Given the description of an element on the screen output the (x, y) to click on. 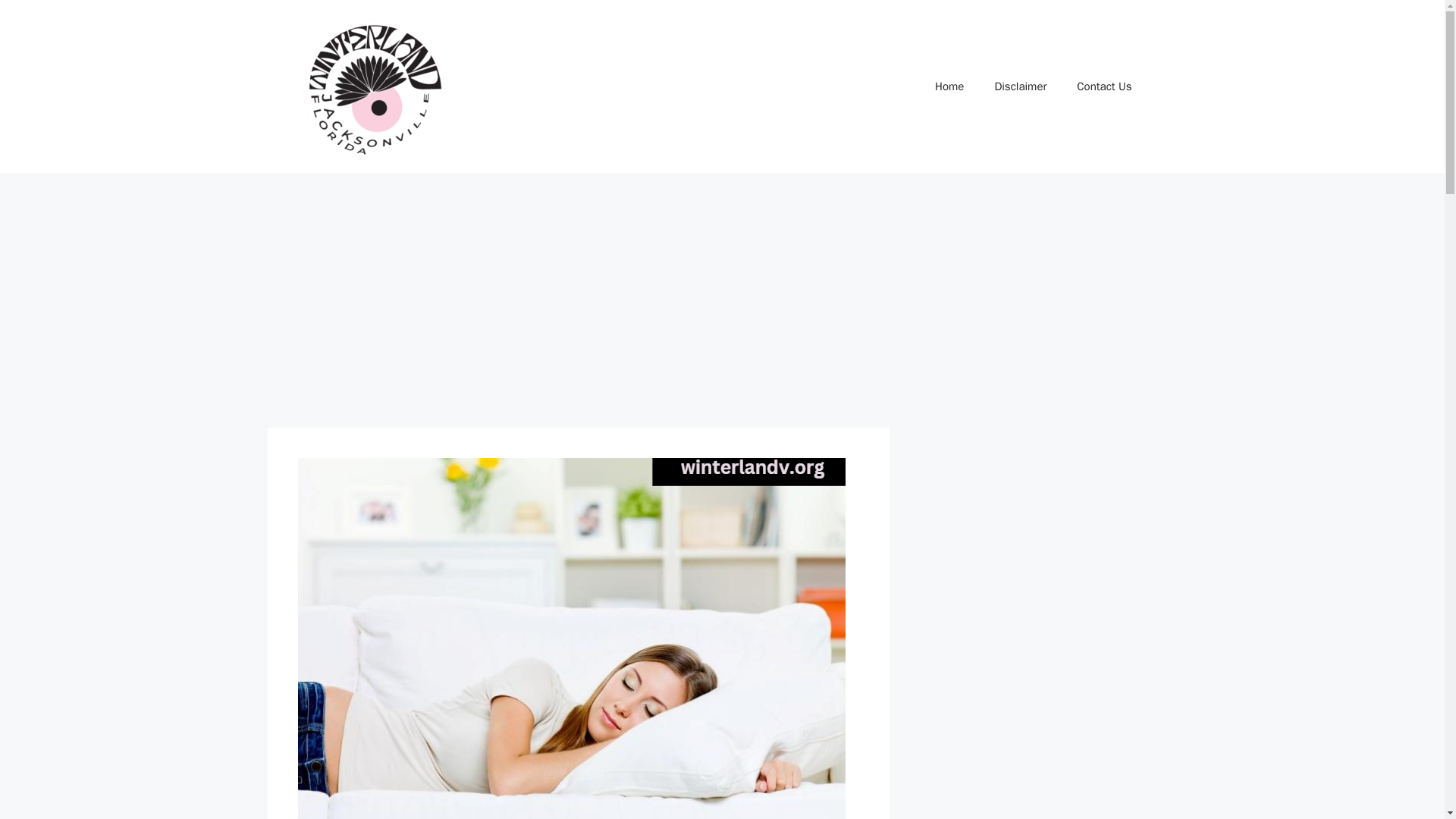
Disclaimer (1019, 85)
Home (949, 85)
Contact Us (1104, 85)
